Given the description of an element on the screen output the (x, y) to click on. 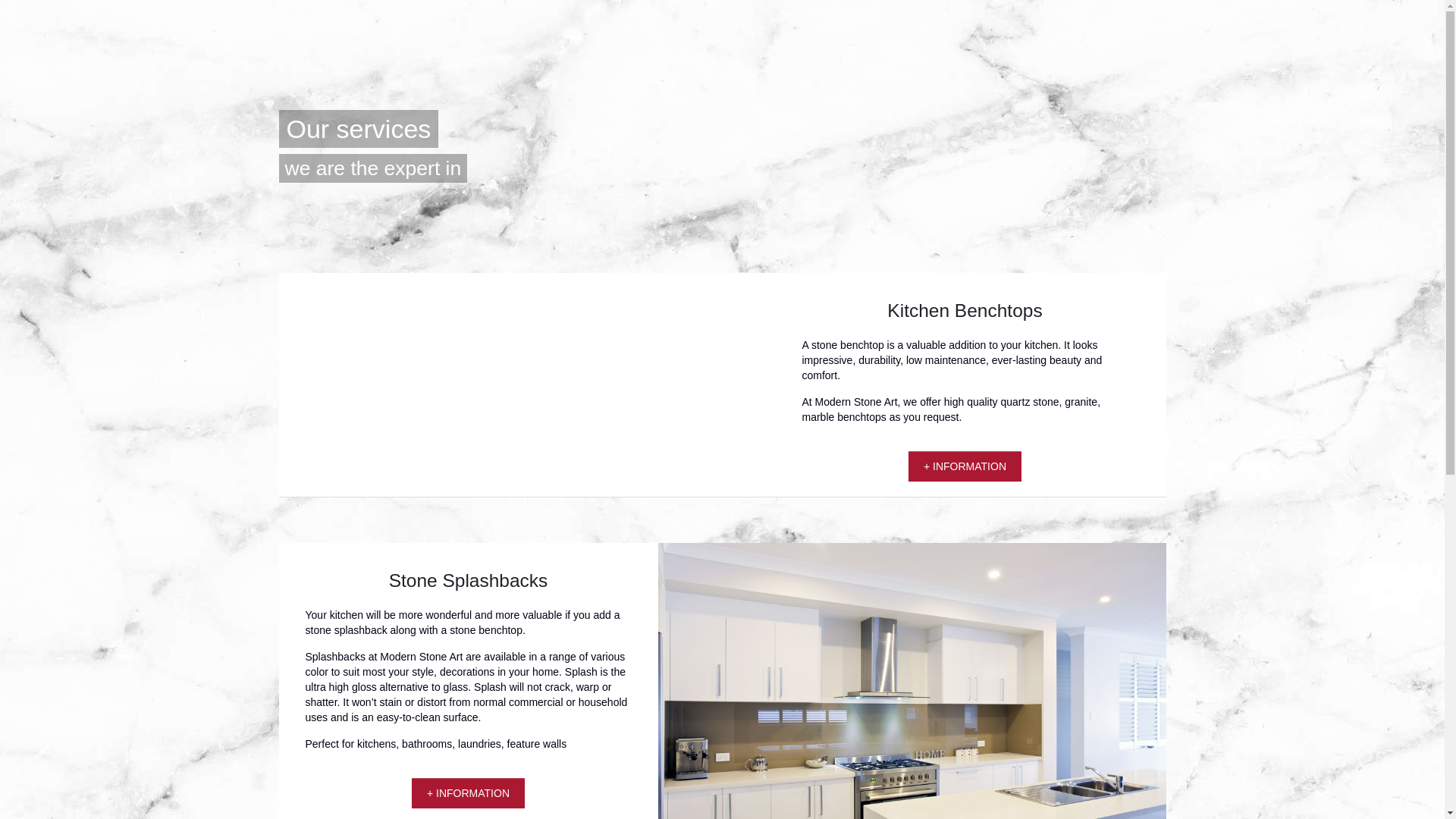
+ INFORMATION Element type: text (467, 793)
+ INFORMATION Element type: text (964, 466)
